Given the description of an element on the screen output the (x, y) to click on. 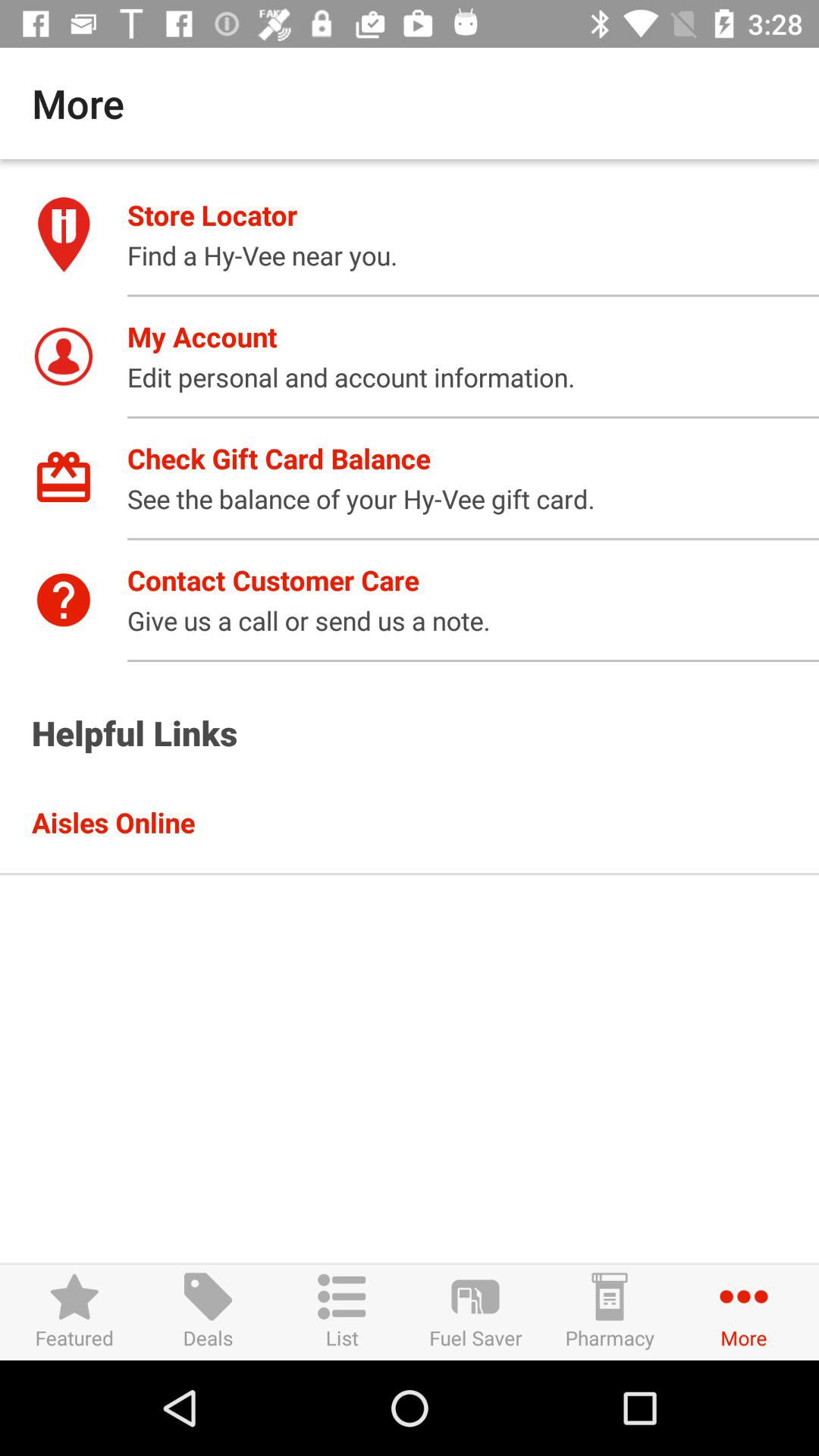
choose deals icon (208, 1311)
